Given the description of an element on the screen output the (x, y) to click on. 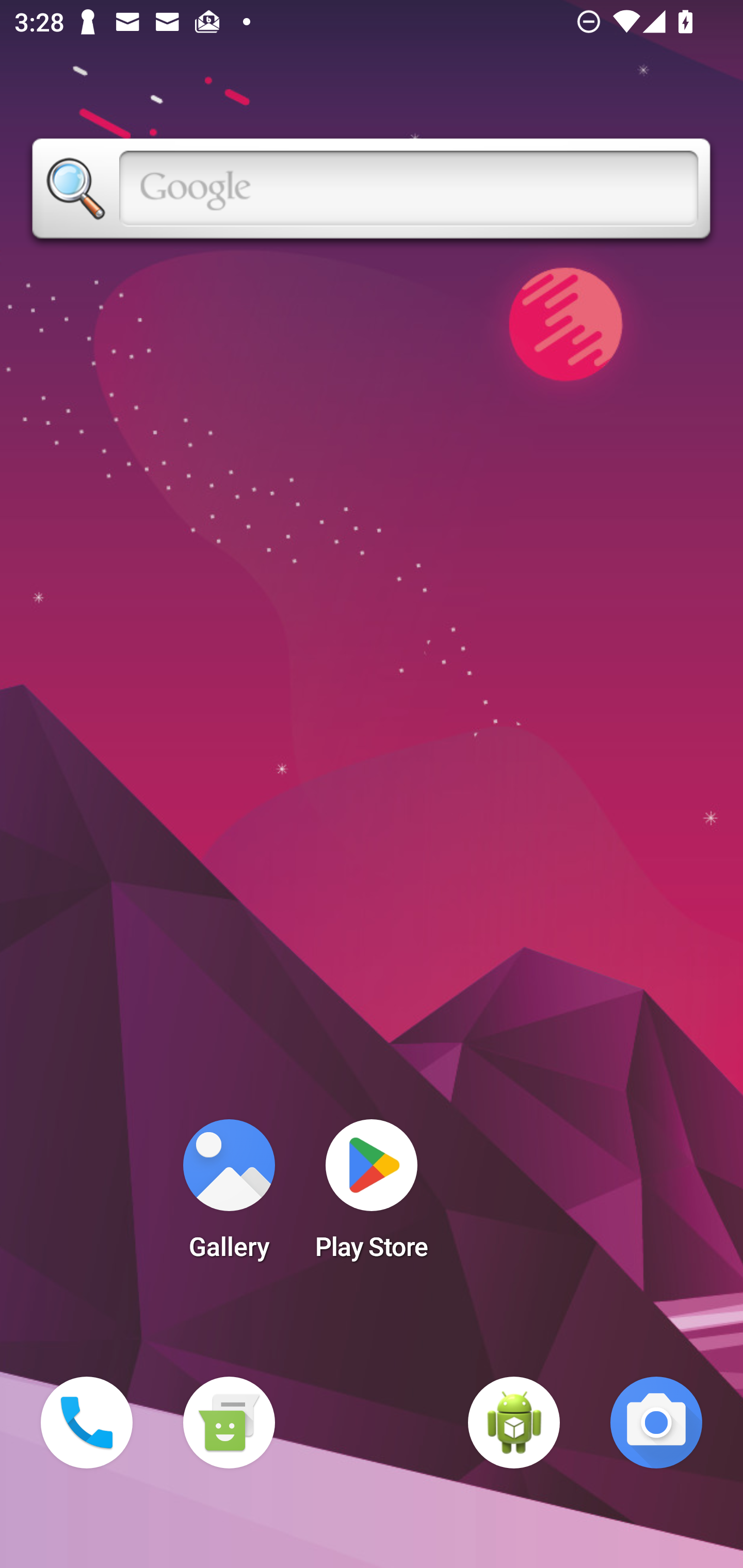
Gallery (228, 1195)
Play Store (371, 1195)
Phone (86, 1422)
Messaging (228, 1422)
WebView Browser Tester (513, 1422)
Camera (656, 1422)
